Given the description of an element on the screen output the (x, y) to click on. 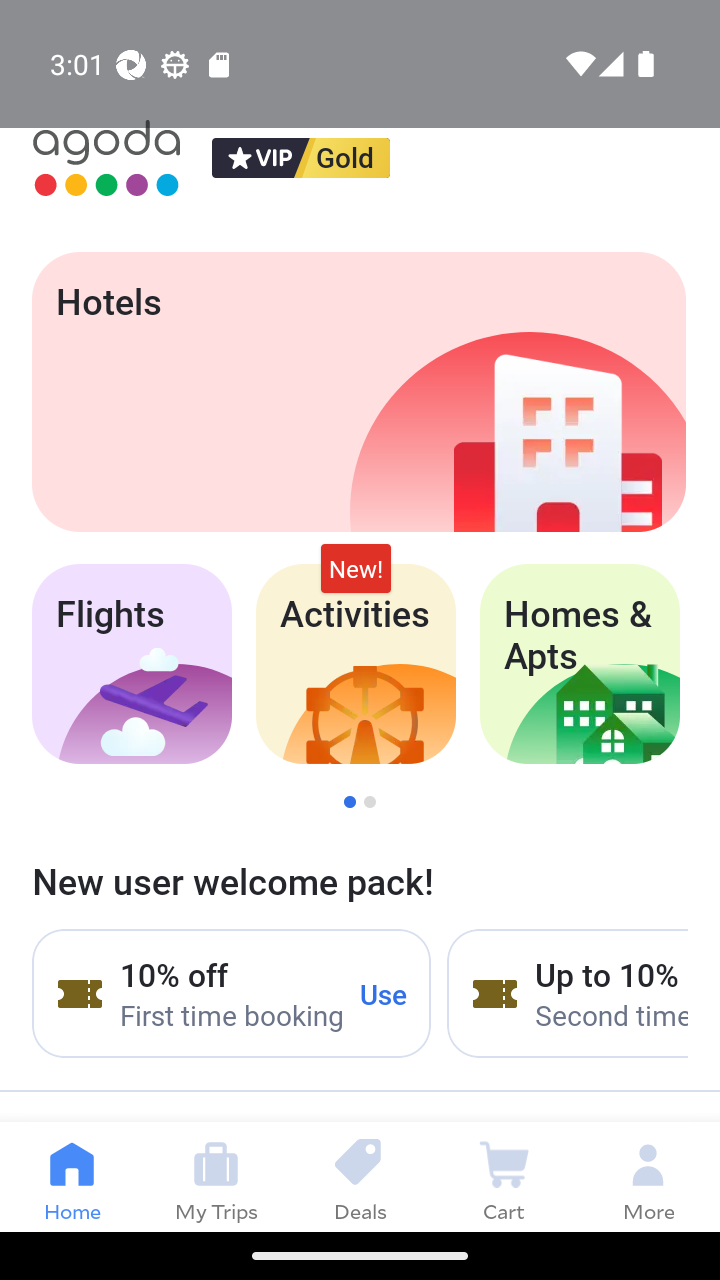
Hotels (358, 392)
New! (355, 568)
Flights (131, 664)
Activities (355, 664)
Homes & Apts (579, 664)
Use (384, 993)
Home (72, 1176)
My Trips (216, 1176)
Deals (360, 1176)
Cart (504, 1176)
More (648, 1176)
